Given the description of an element on the screen output the (x, y) to click on. 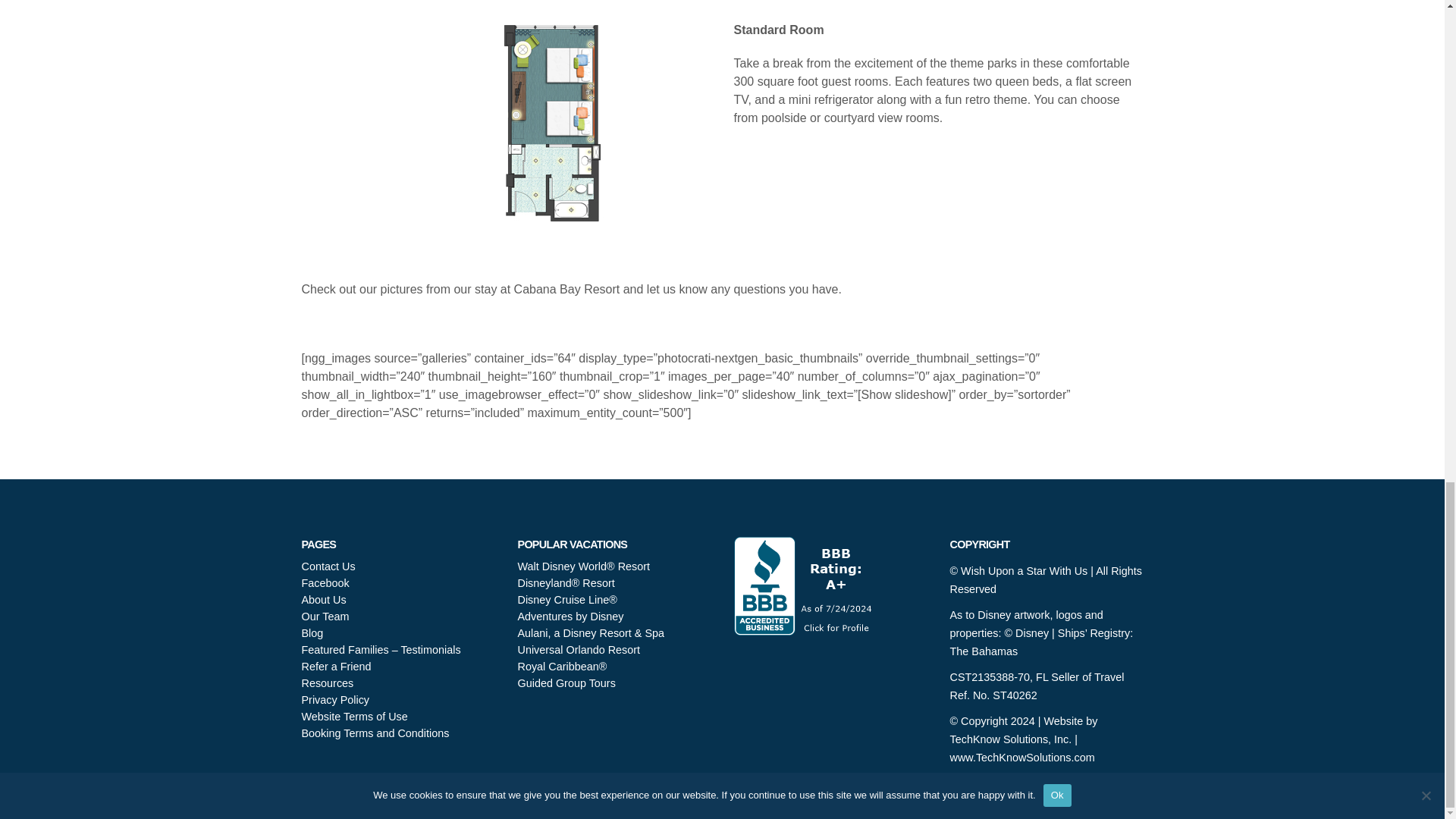
Cabana-Bay-standard-room-floor-plan (505, 125)
